Given the description of an element on the screen output the (x, y) to click on. 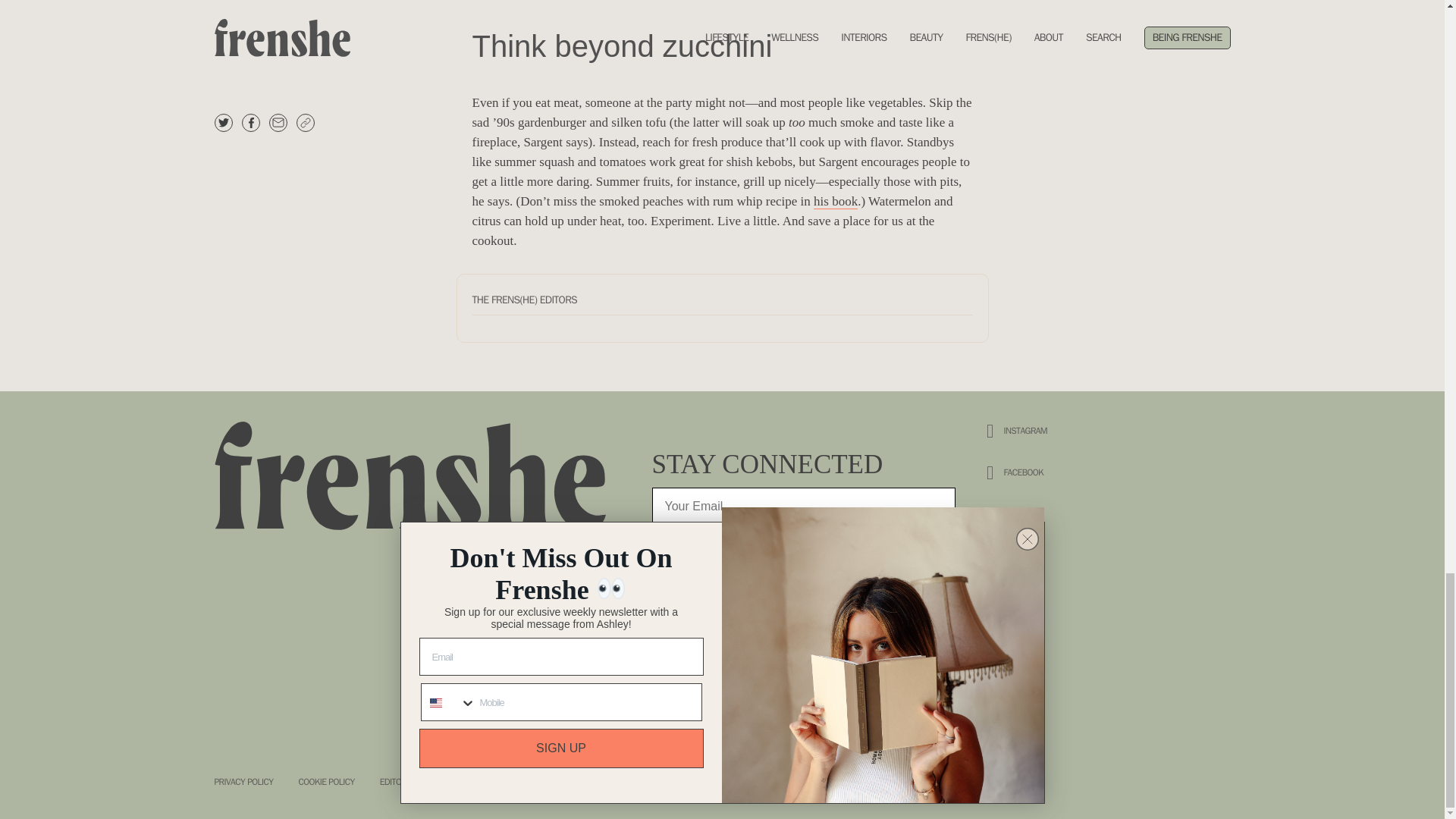
United States (666, 552)
FACEBOOK (1047, 472)
Frenshe (417, 475)
INSTAGRAM (1047, 430)
PRIVACY POLICY (243, 781)
ACCEPTABLE USE POLICY (535, 781)
EDITORIAL DISCLAIMER (422, 781)
his book (835, 201)
COOKIE POLICY (325, 781)
Subscribe (803, 673)
